Given the description of an element on the screen output the (x, y) to click on. 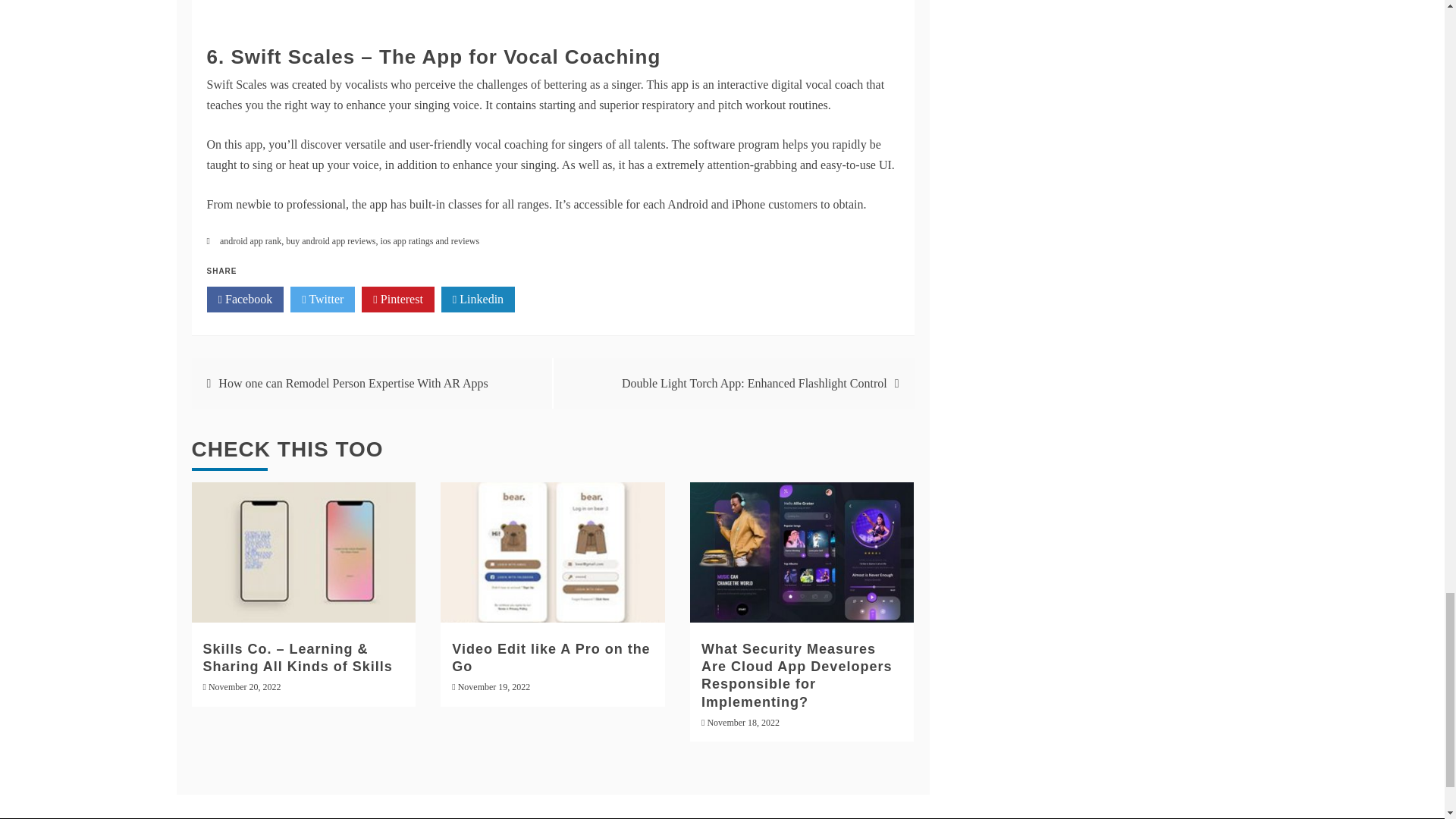
Pinterest (397, 299)
Double Light Torch App: Enhanced Flashlight Control (753, 382)
November 19, 2022 (494, 686)
Twitter (322, 299)
Linkedin (478, 299)
ios app ratings and reviews (430, 240)
buy android app reviews (330, 240)
How one can Remodel Person Expertise With AR Apps (352, 382)
Video Edit like A Pro on the Go (550, 657)
